Given the description of an element on the screen output the (x, y) to click on. 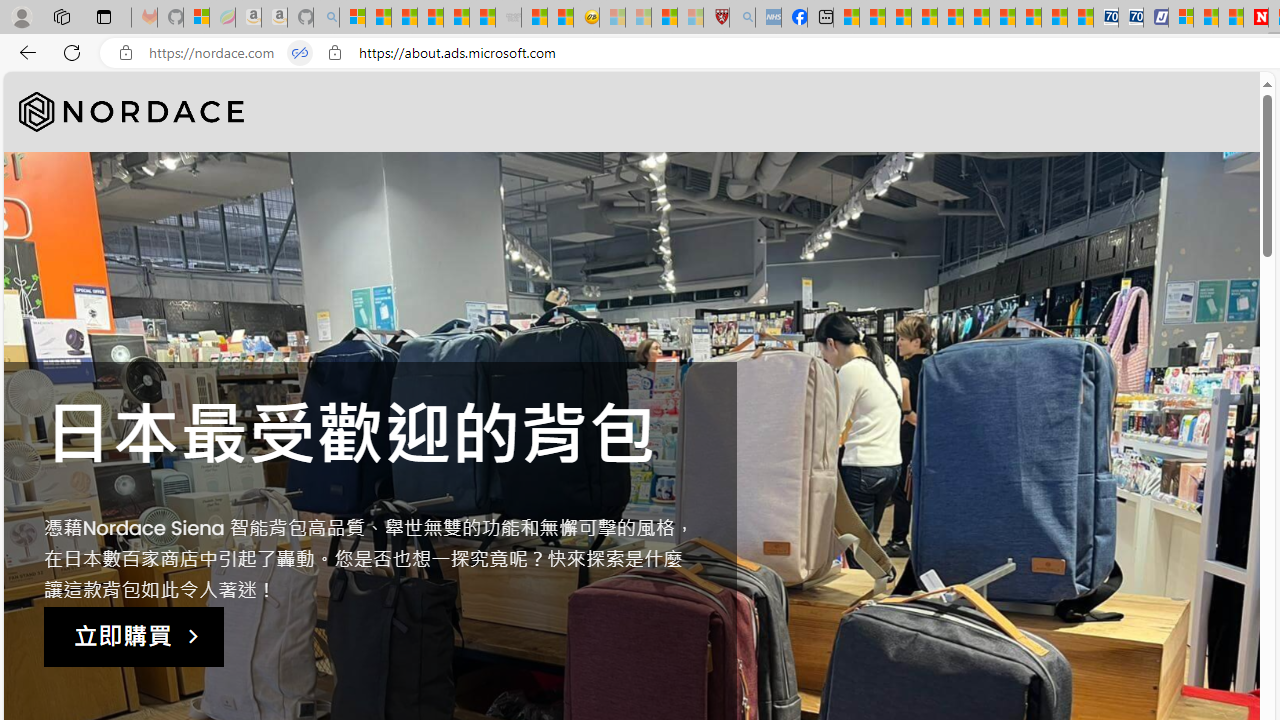
The Weather Channel - MSN (404, 17)
